Given the description of an element on the screen output the (x, y) to click on. 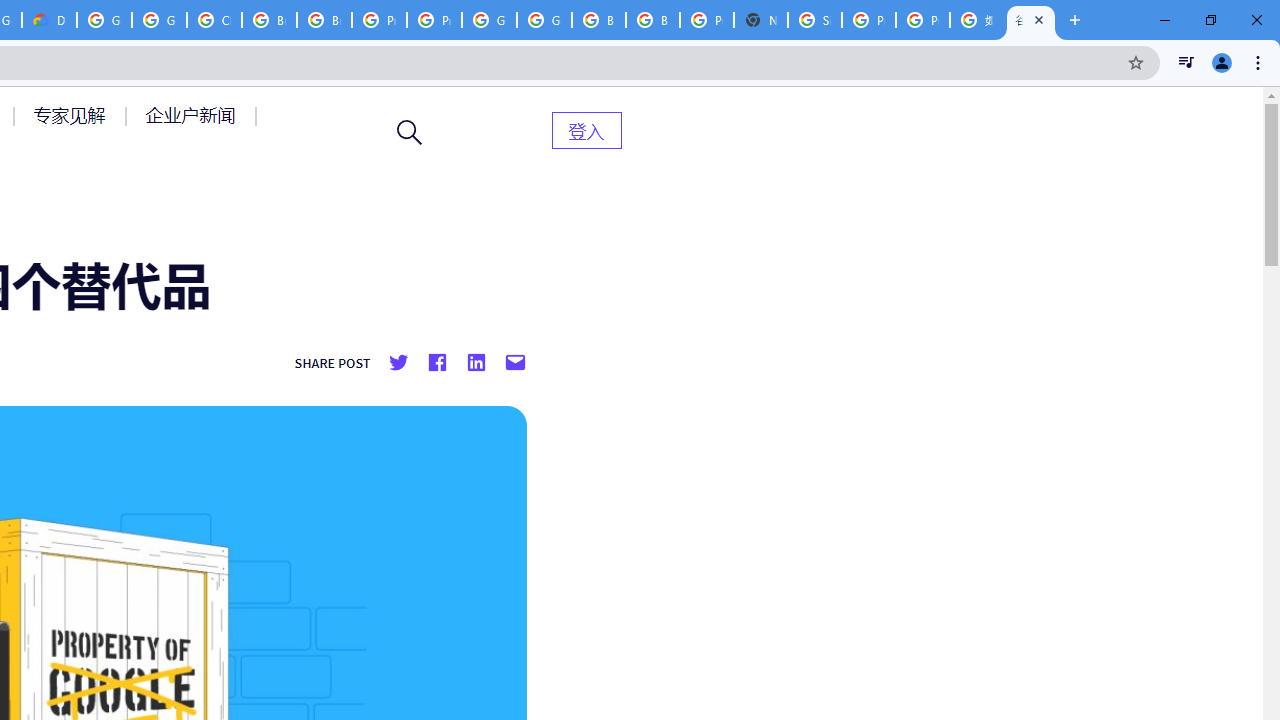
Share by mail (515, 363)
Browse Chrome as a guest - Computer - Google Chrome Help (268, 20)
Open search form (410, 132)
Control your music, videos, and more (1185, 62)
Browse Chrome as a guest - Computer - Google Chrome Help (652, 20)
Share on Linkedin (475, 363)
